Given the description of an element on the screen output the (x, y) to click on. 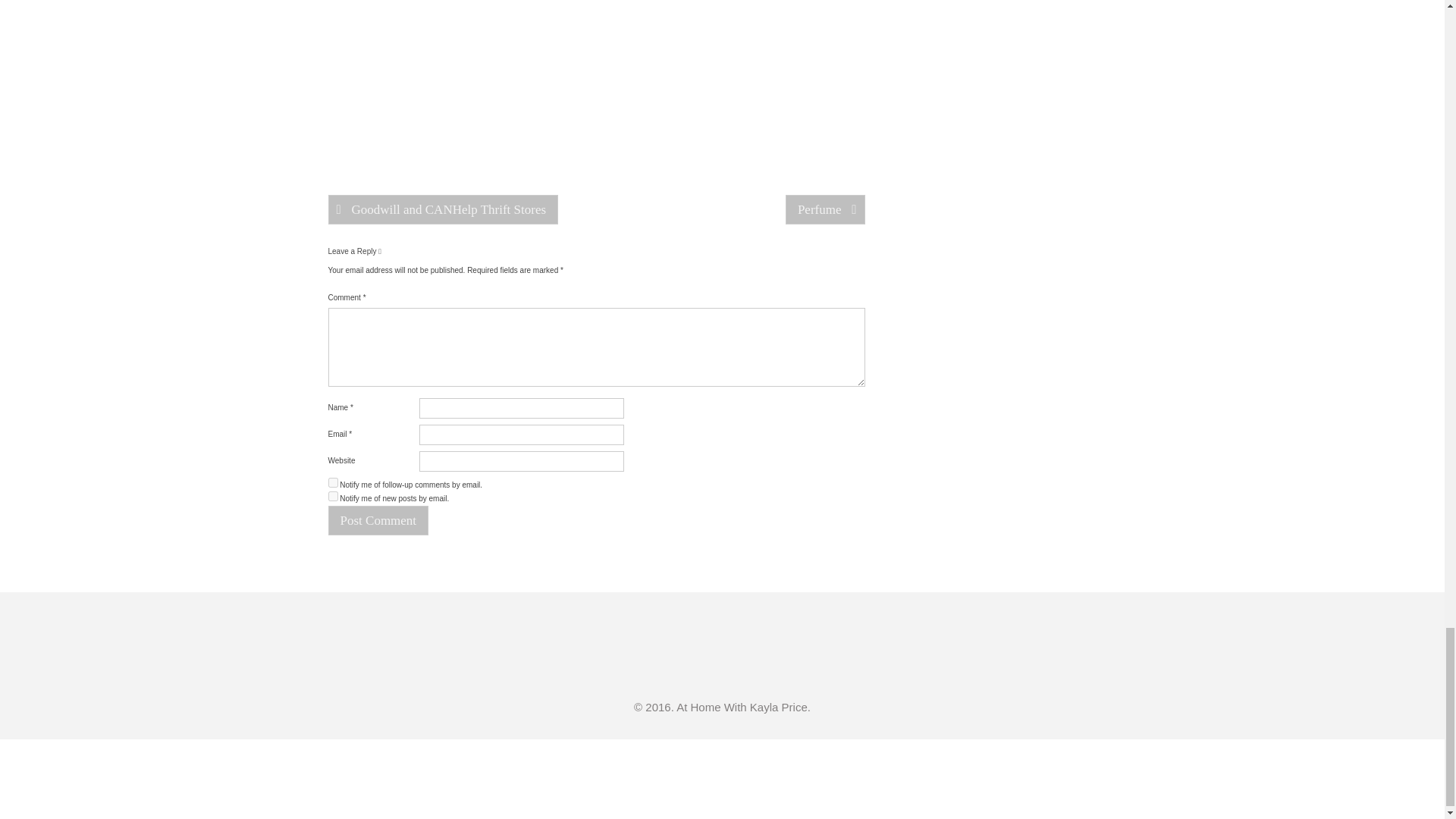
subscribe (332, 496)
Goodwill and CANHelp Thrift Stores (442, 209)
Post Comment (377, 520)
Post Comment (377, 520)
Perfume (825, 209)
subscribe (332, 482)
